Given the description of an element on the screen output the (x, y) to click on. 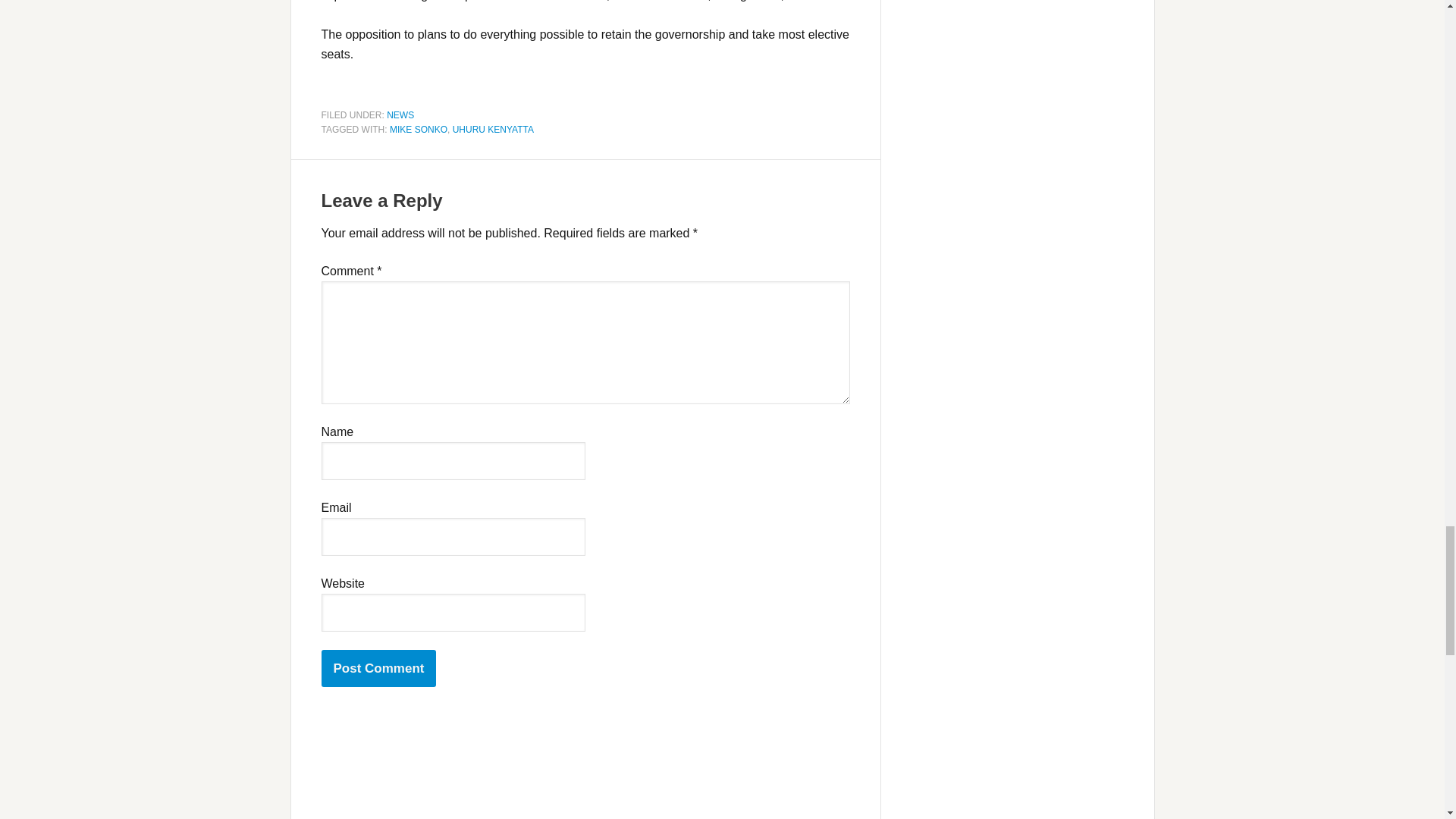
UHURU KENYATTA (493, 129)
Post Comment (378, 668)
Post Comment (378, 668)
NEWS (400, 113)
MIKE SONKO (418, 129)
